Given the description of an element on the screen output the (x, y) to click on. 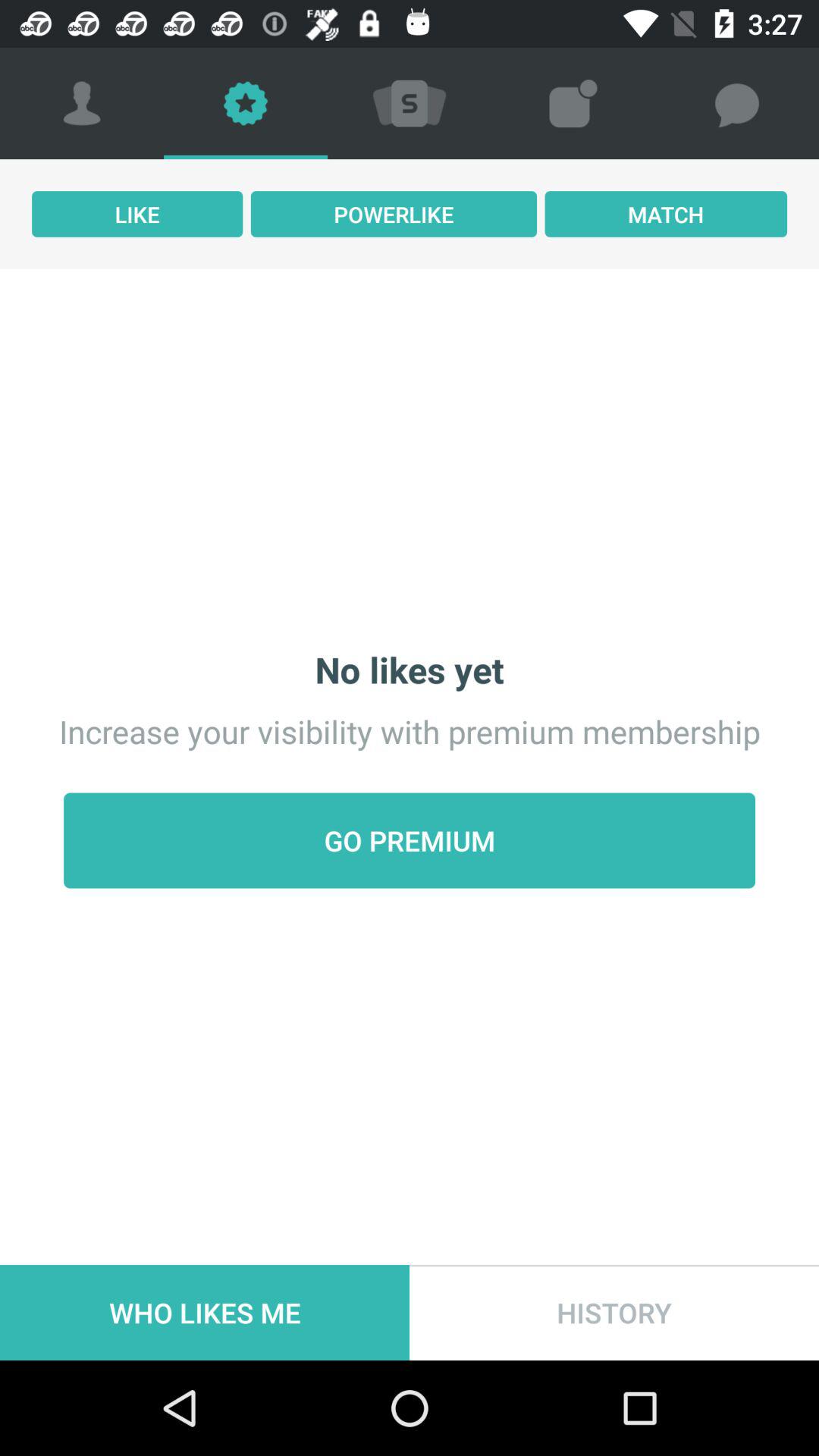
open the item next to who likes me item (614, 1312)
